Given the description of an element on the screen output the (x, y) to click on. 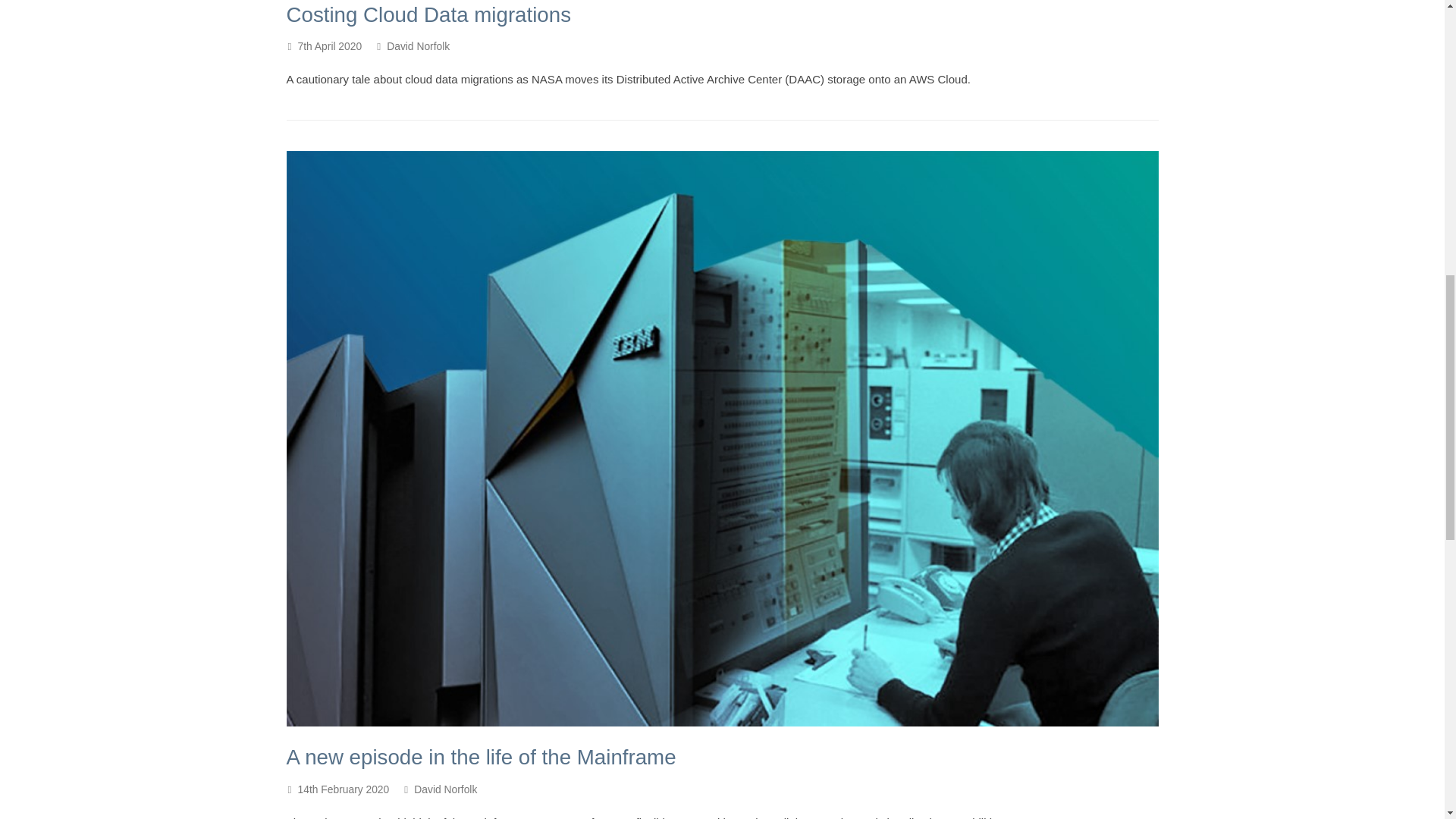
View profile for David Norfolk (445, 788)
A new episode in the life of the Mainframe (481, 757)
Costing Cloud Data migrations (429, 14)
View profile for David Norfolk (418, 46)
